Given the description of an element on the screen output the (x, y) to click on. 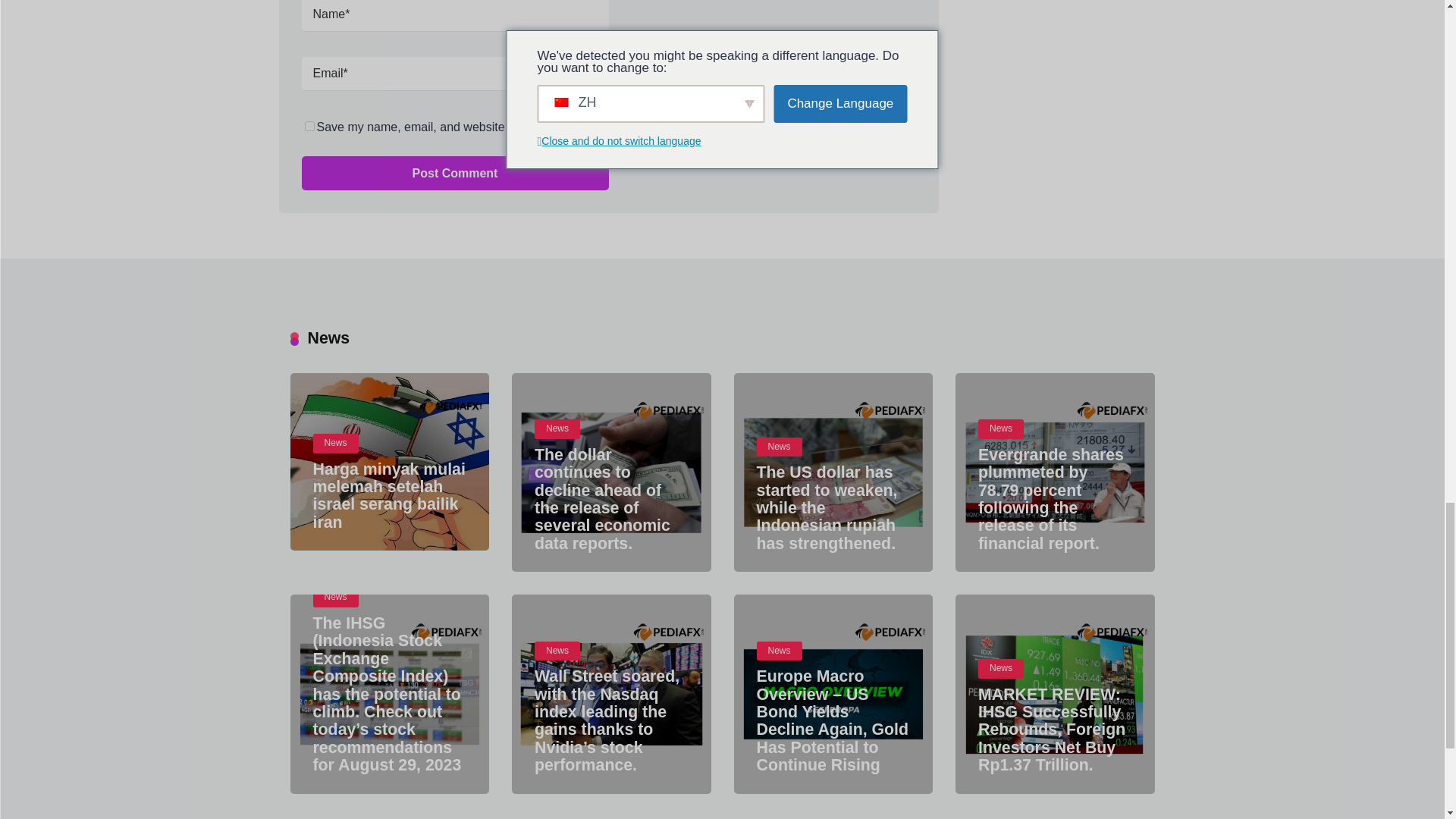
Post Comment (454, 173)
Post Comment (454, 173)
yes (309, 126)
